Given the description of an element on the screen output the (x, y) to click on. 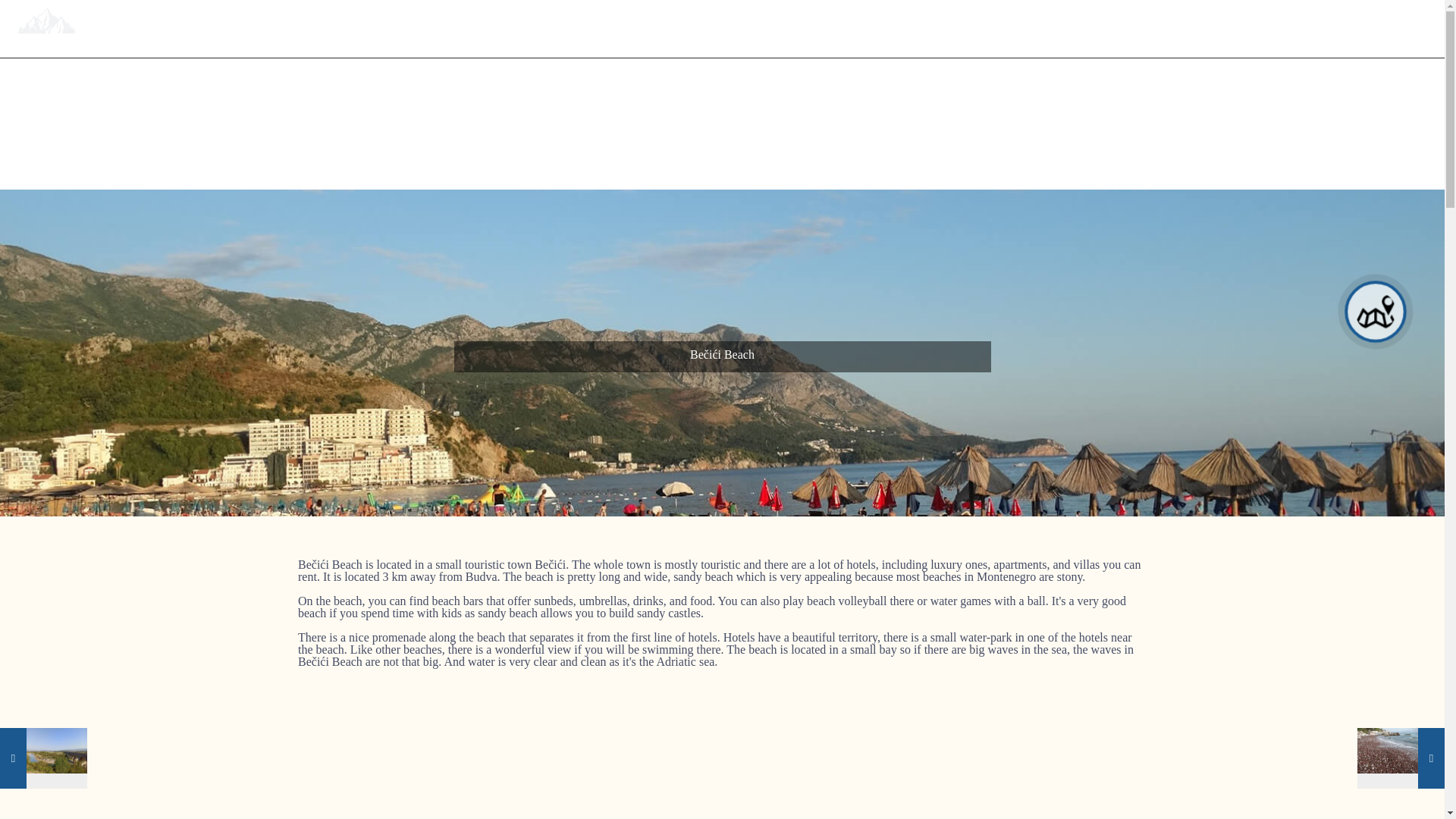
About (737, 28)
Show Map (1374, 311)
Events (1075, 28)
Home (658, 28)
Beaches (984, 28)
Rent (1317, 28)
Sights (818, 28)
Guides (1161, 28)
News (1243, 28)
Cozy Montenegro (46, 24)
